Given the description of an element on the screen output the (x, y) to click on. 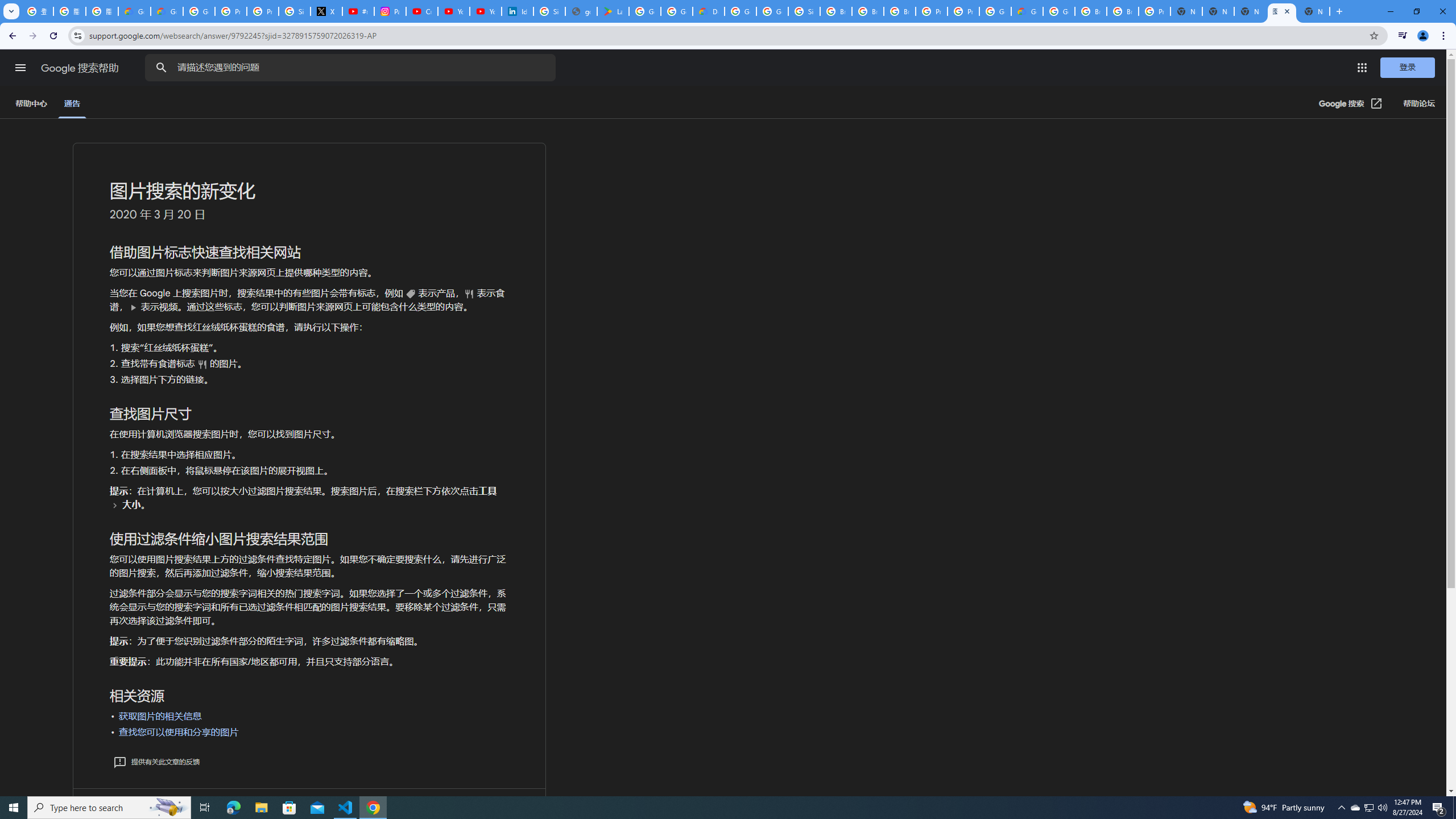
Google Workspace - Specific Terms (676, 11)
New Tab (1313, 11)
Sign in - Google Accounts (549, 11)
Browse Chrome as a guest - Computer - Google Chrome Help (1091, 11)
Browse Chrome as a guest - Computer - Google Chrome Help (899, 11)
New Tab (1185, 11)
